Given the description of an element on the screen output the (x, y) to click on. 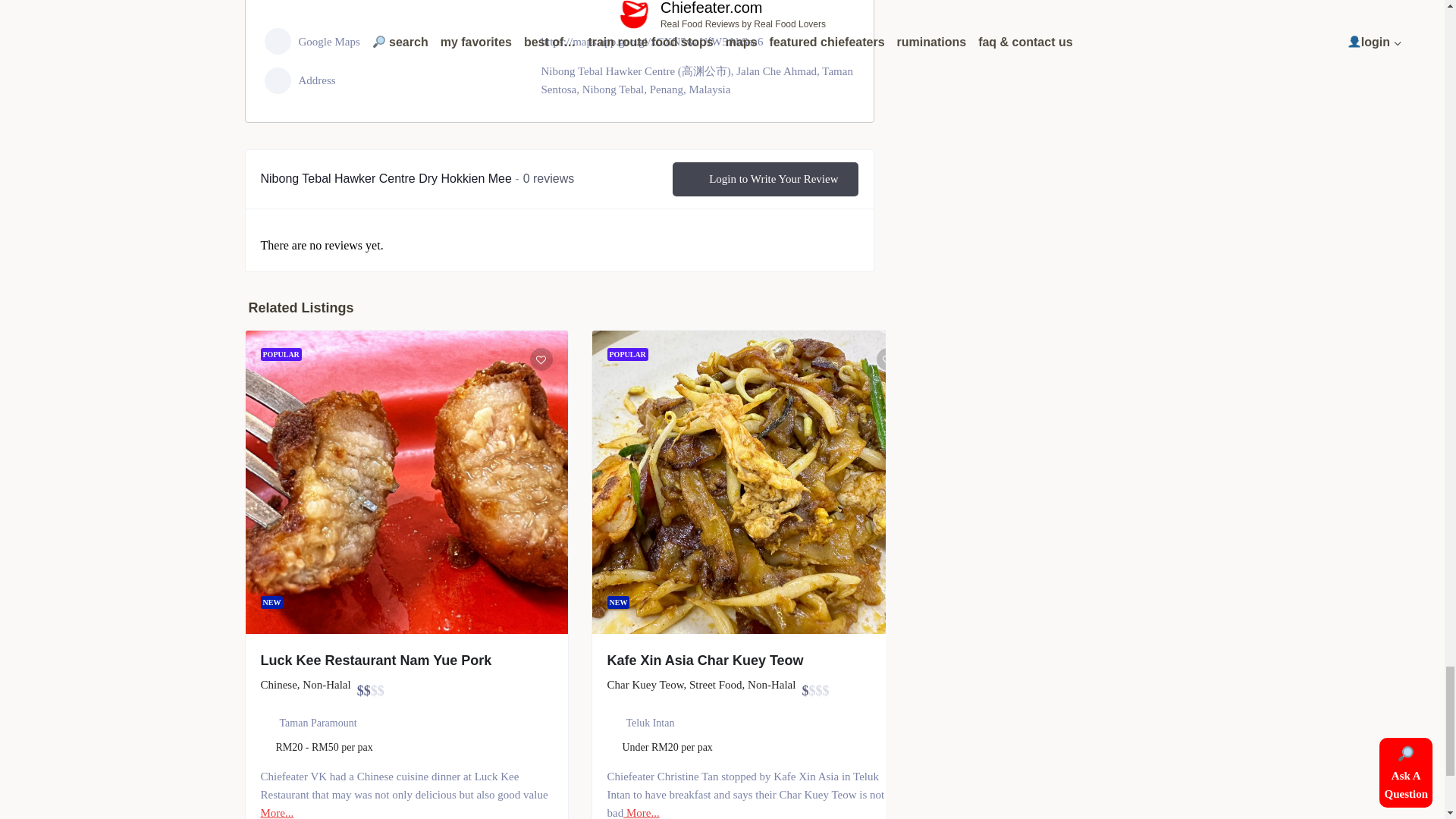
Kafe Xin Asia Char Kuey Teow (705, 660)
Login to Write Your Review (764, 179)
Taman Paramount (317, 722)
Luck Kee Restaurant Nam Yue Pork (376, 660)
More... (641, 812)
Teluk Intan (650, 722)
More... (277, 812)
